Given the description of an element on the screen output the (x, y) to click on. 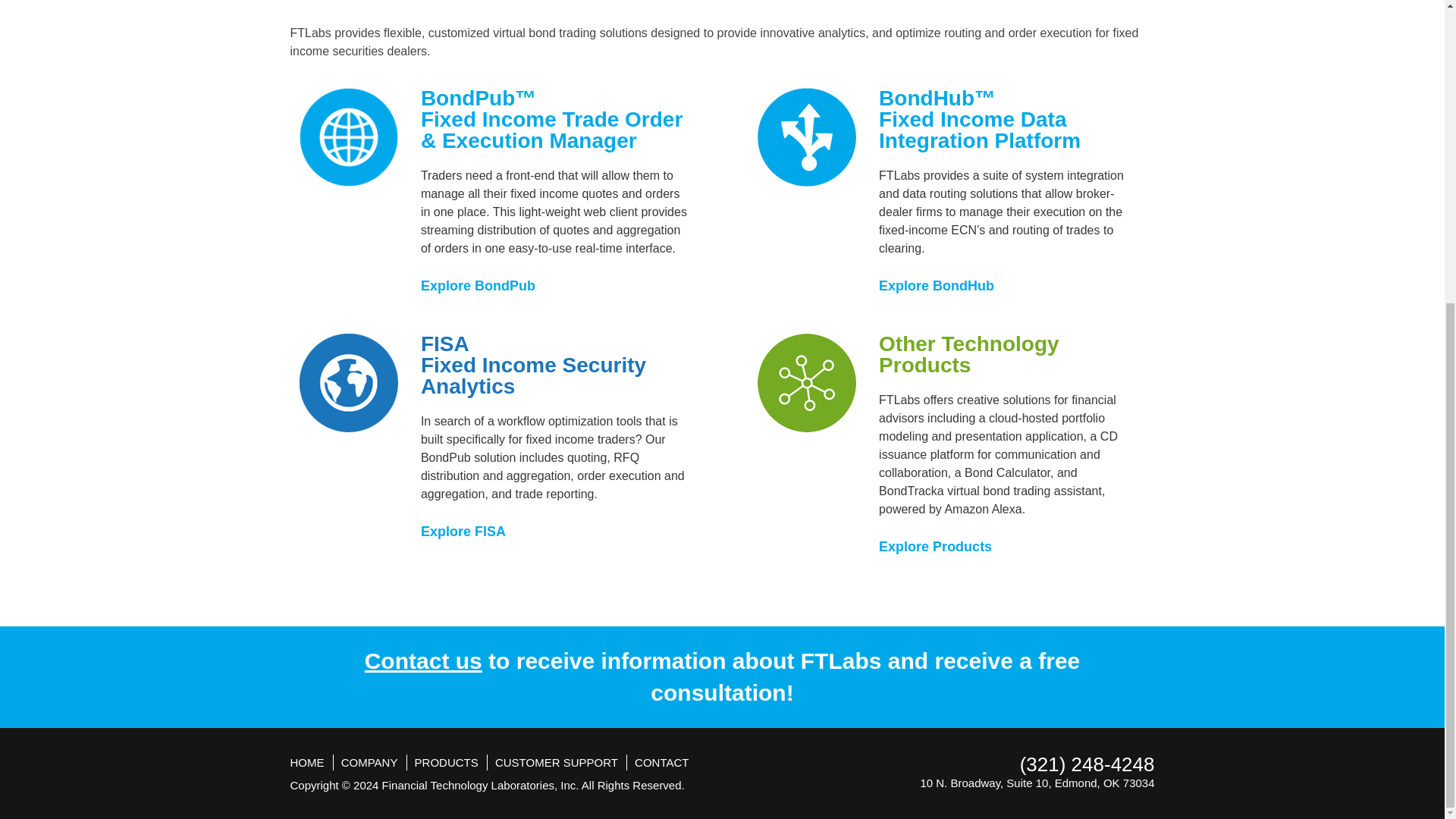
Explore BondHub (941, 285)
Explore BondPub (483, 285)
